Given the description of an element on the screen output the (x, y) to click on. 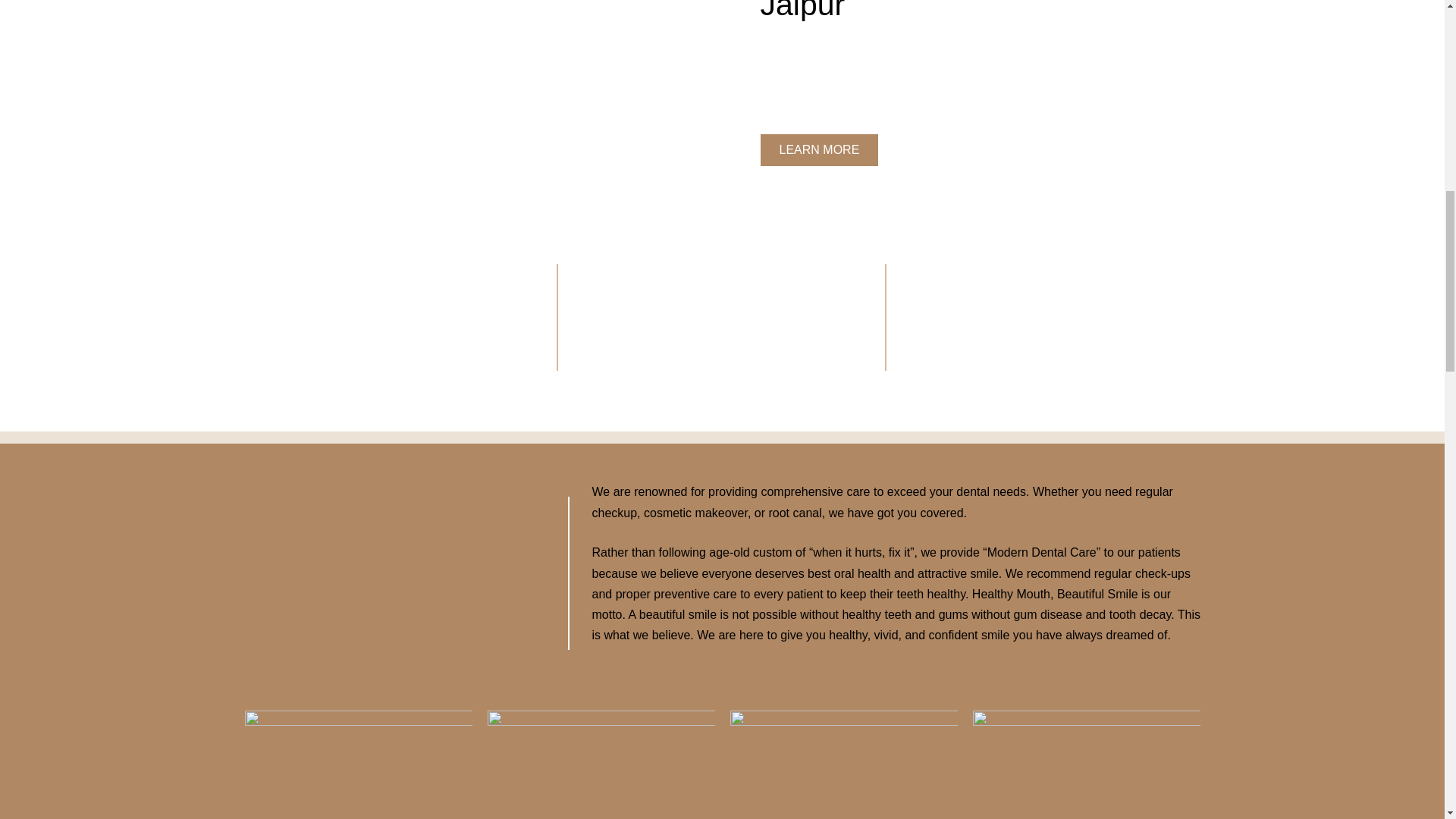
LEARN MORE (818, 150)
